Given the description of an element on the screen output the (x, y) to click on. 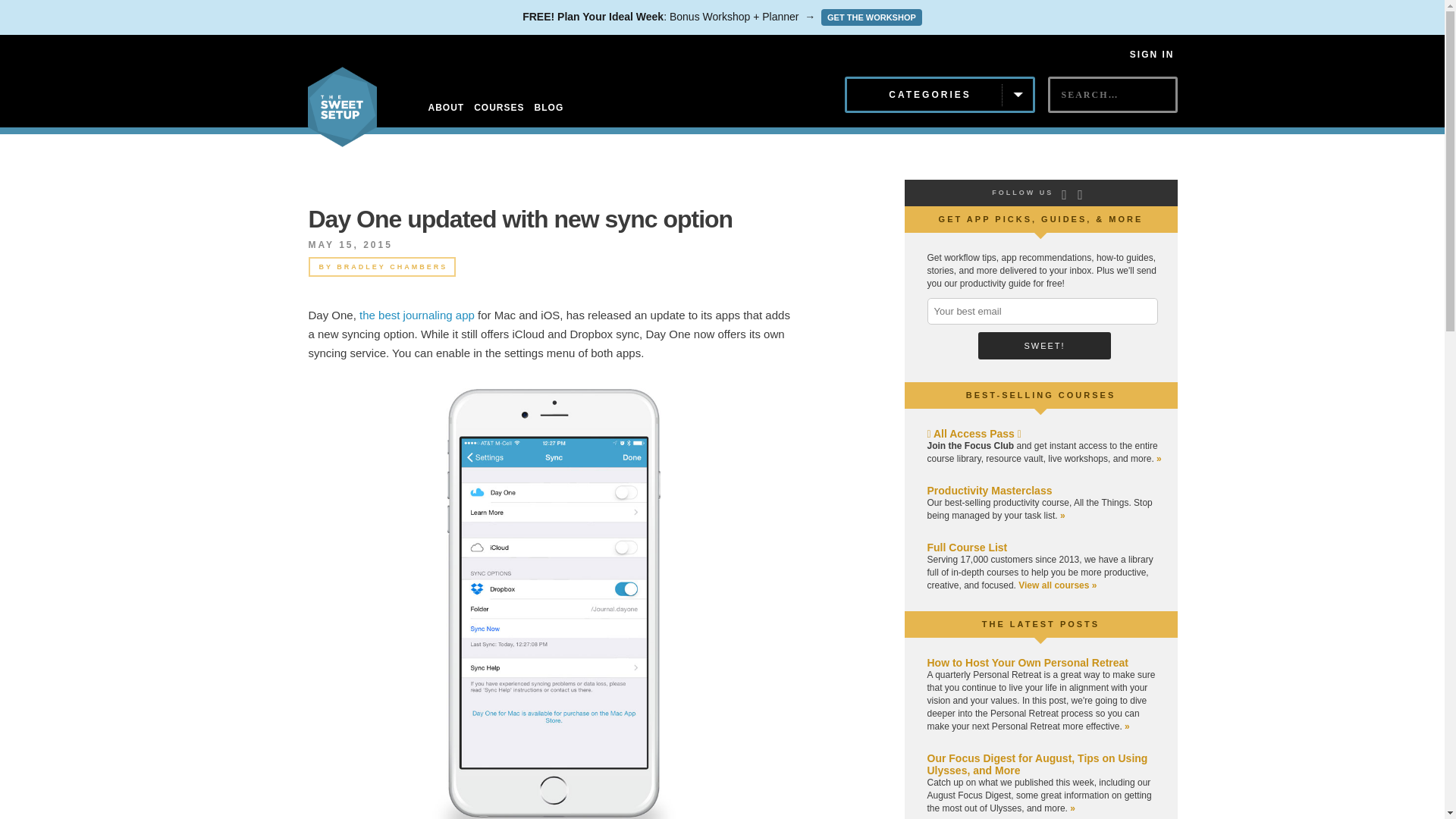
the best journaling app (416, 314)
BLOG (549, 107)
SIGN IN (1151, 53)
BRADLEY CHAMBERS (391, 266)
COURSES (499, 107)
BEST-SELLING COURSES (1041, 394)
Productivity Masterclass (988, 490)
ABOUT (446, 107)
GET THE WORKSHOP (871, 17)
Full Course List (966, 547)
